Given the description of an element on the screen output the (x, y) to click on. 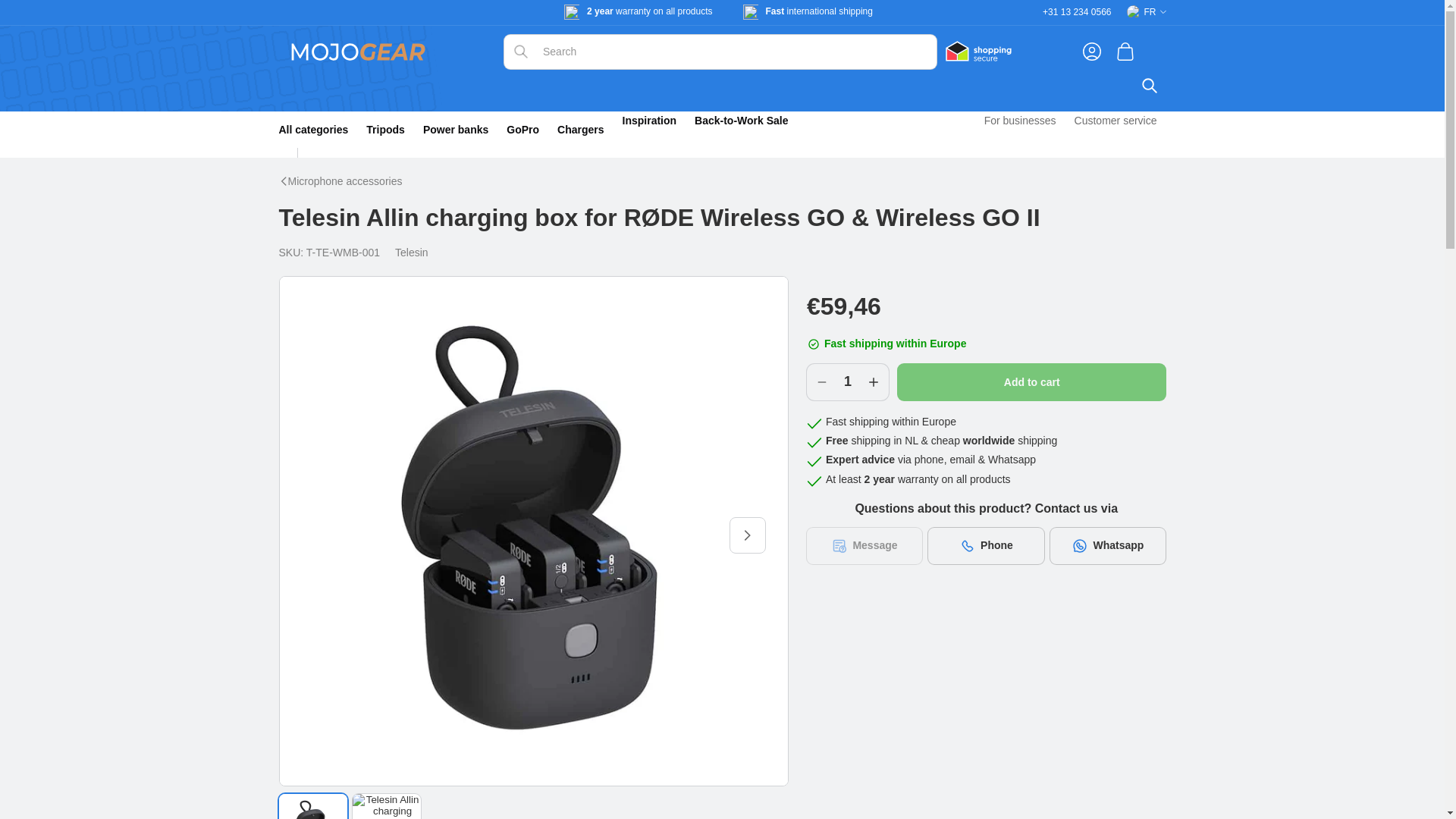
Fast international shipping (818, 10)
Skip to content (45, 18)
FR (1146, 11)
2 year warranty on all products (648, 12)
